Given the description of an element on the screen output the (x, y) to click on. 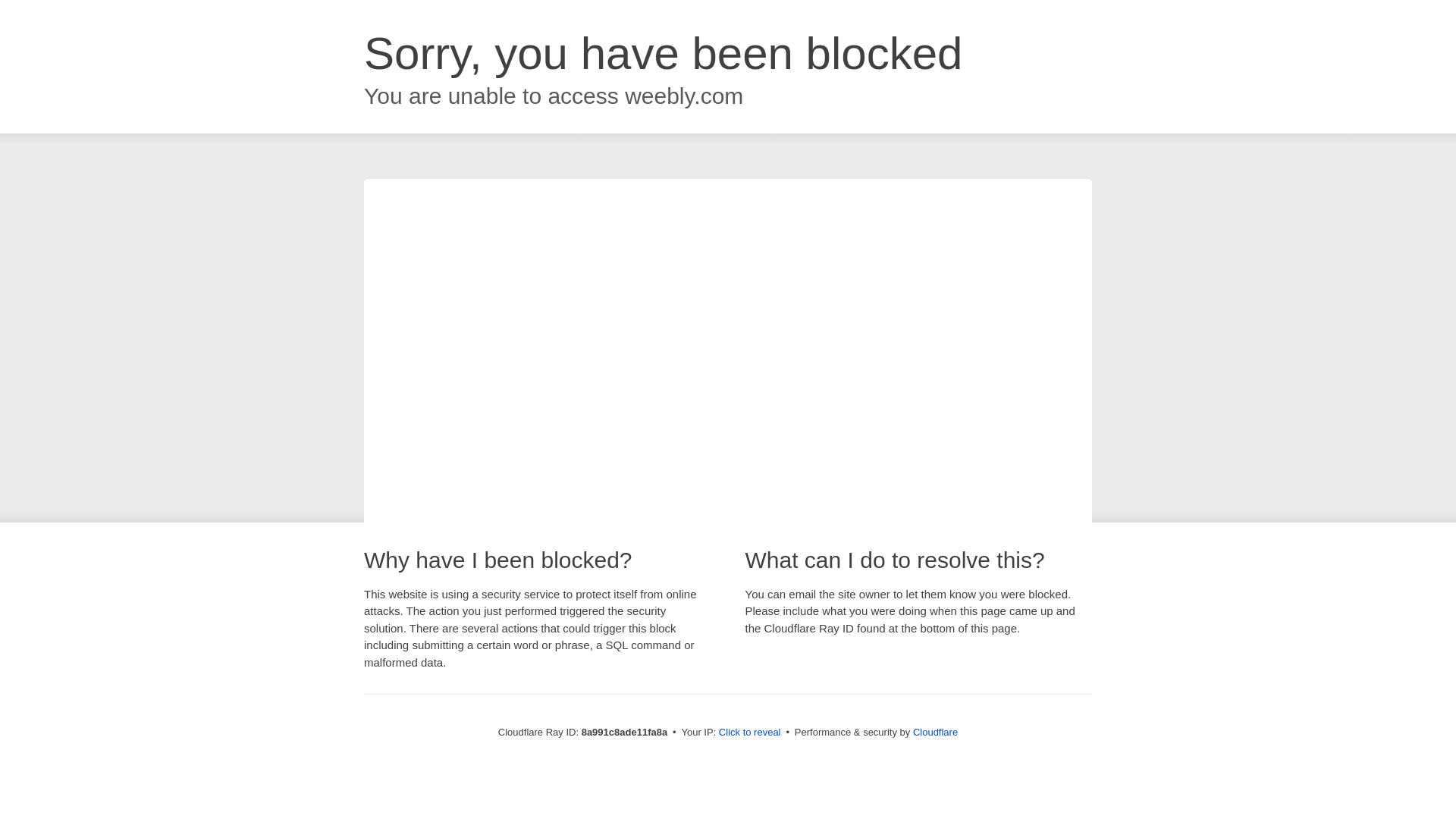
Click to reveal (749, 732)
Cloudflare (935, 731)
